Given the description of an element on the screen output the (x, y) to click on. 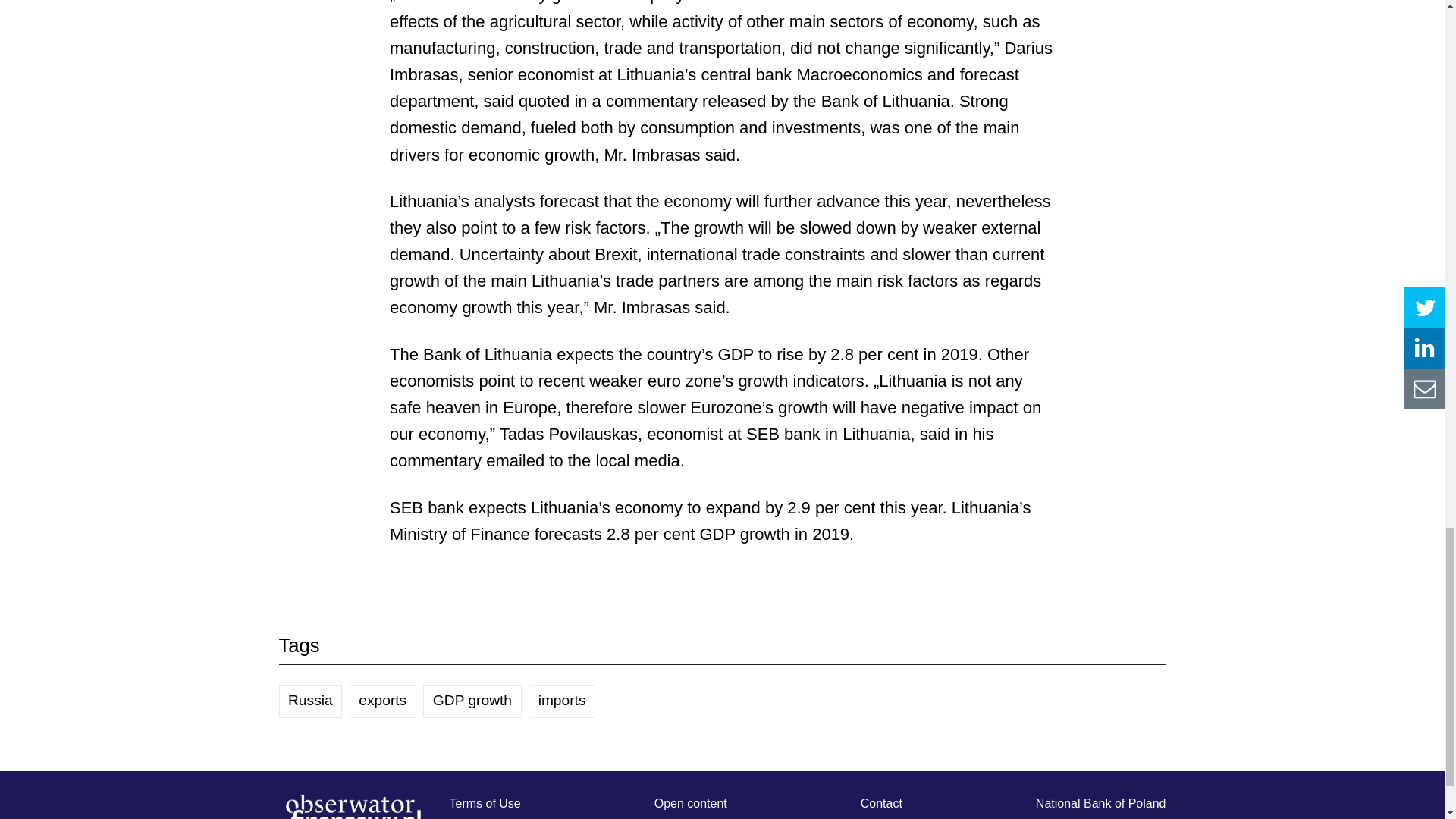
Terms of Use (483, 802)
Open content (689, 802)
imports (561, 701)
Contact (881, 802)
GDP growth (472, 701)
exports (382, 701)
National Bank of Poland (1100, 802)
Russia (310, 701)
